Given the description of an element on the screen output the (x, y) to click on. 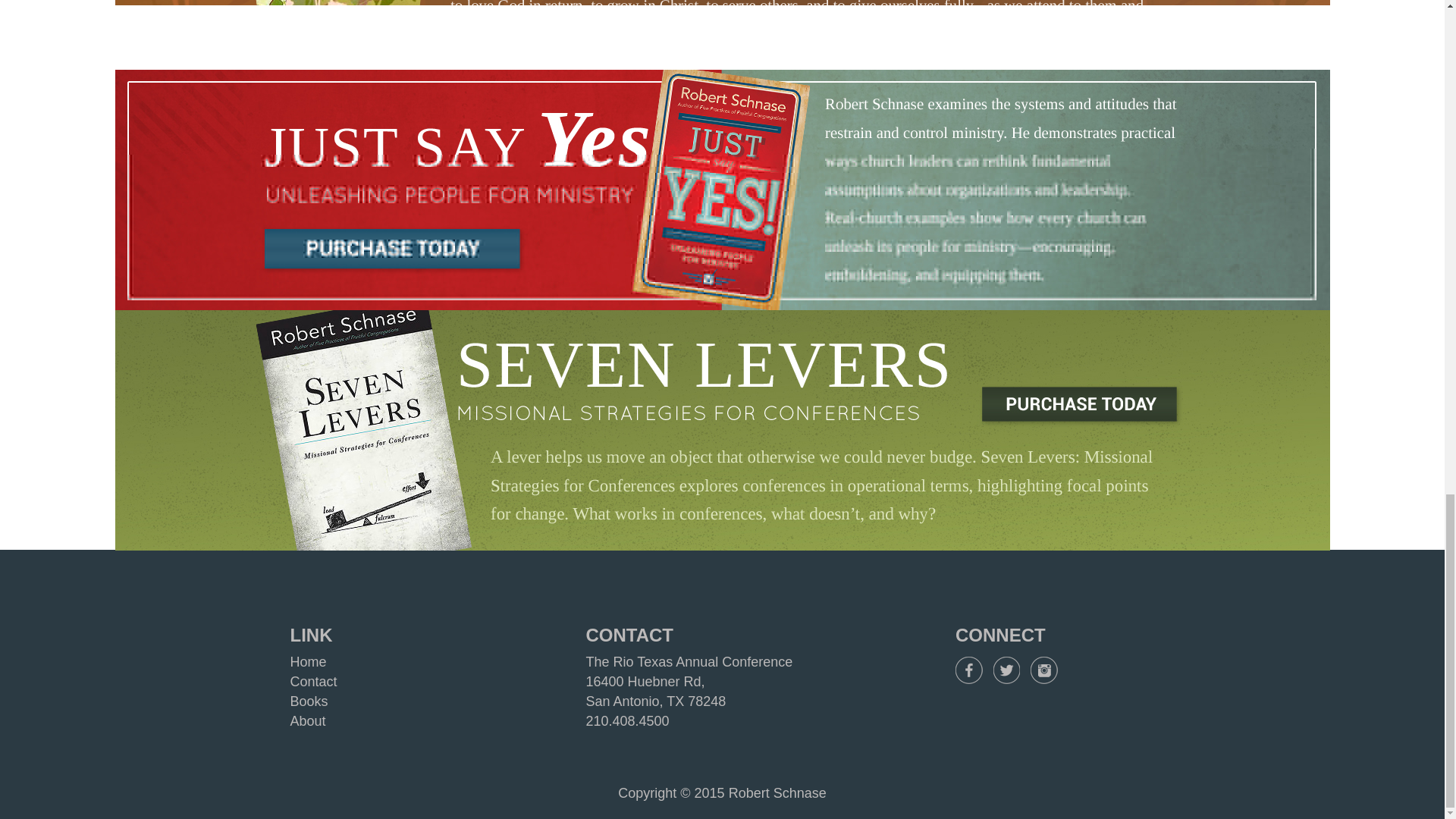
Home (307, 661)
Books (308, 701)
About (306, 720)
210.408.4500 (626, 720)
Contact (312, 681)
